Given the description of an element on the screen output the (x, y) to click on. 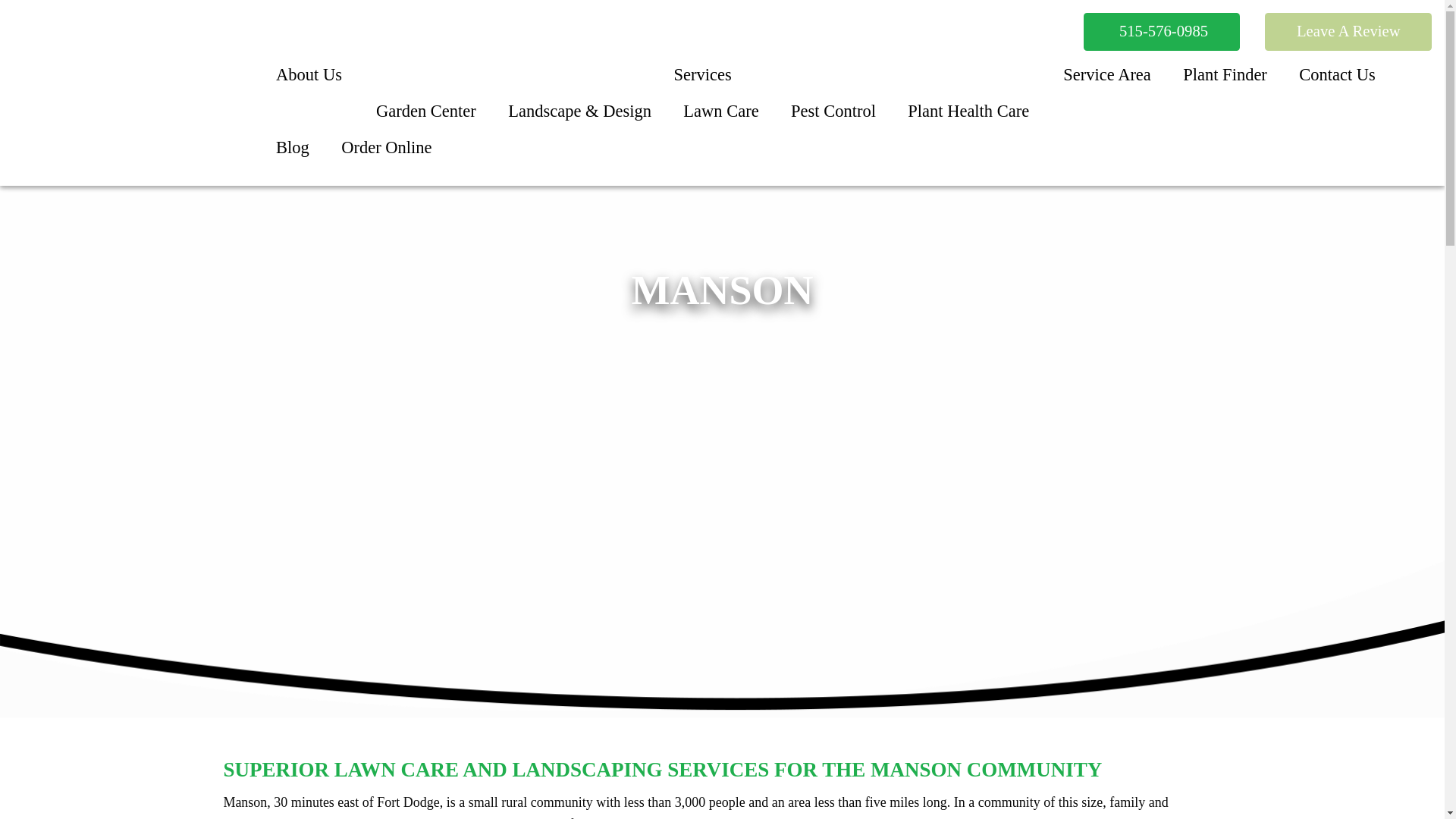
Lawn Care (720, 111)
Contact Us (1337, 75)
Plant Health Care (967, 111)
515-576-0985 (1161, 31)
Plant Finder (1225, 75)
Garden Center (425, 111)
Blog (292, 147)
Service Area (1106, 75)
Call Us (1161, 31)
Order Online (386, 147)
